Given the description of an element on the screen output the (x, y) to click on. 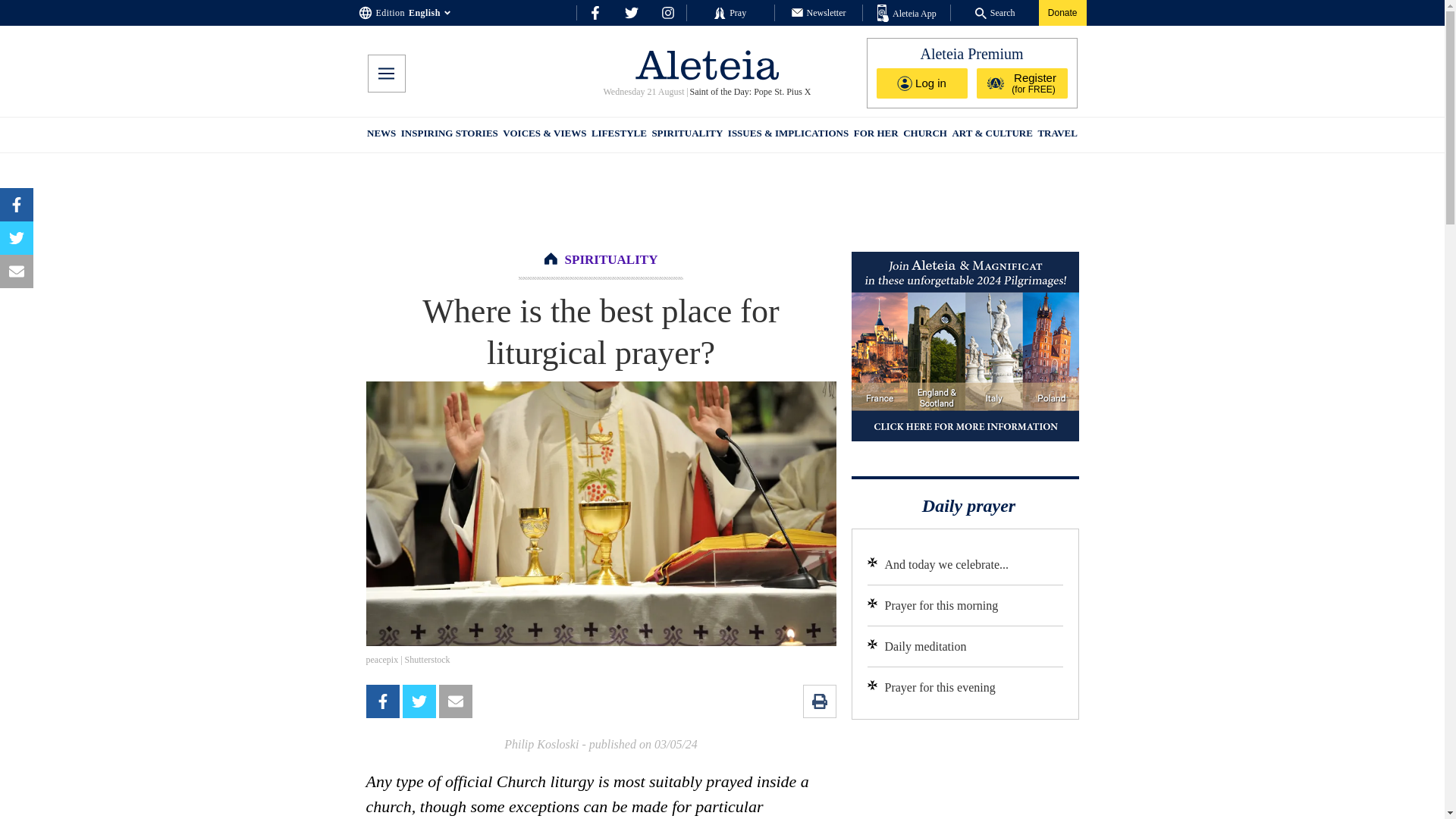
TRAVEL (1056, 134)
SPIRITUALITY (611, 259)
3rd party ad content (964, 776)
Newsletter (818, 12)
Pray (729, 12)
CHURCH (924, 134)
SPIRITUALITY (686, 134)
FOR HER (875, 134)
social-ig-top-row (668, 12)
Log in (922, 82)
